Given the description of an element on the screen output the (x, y) to click on. 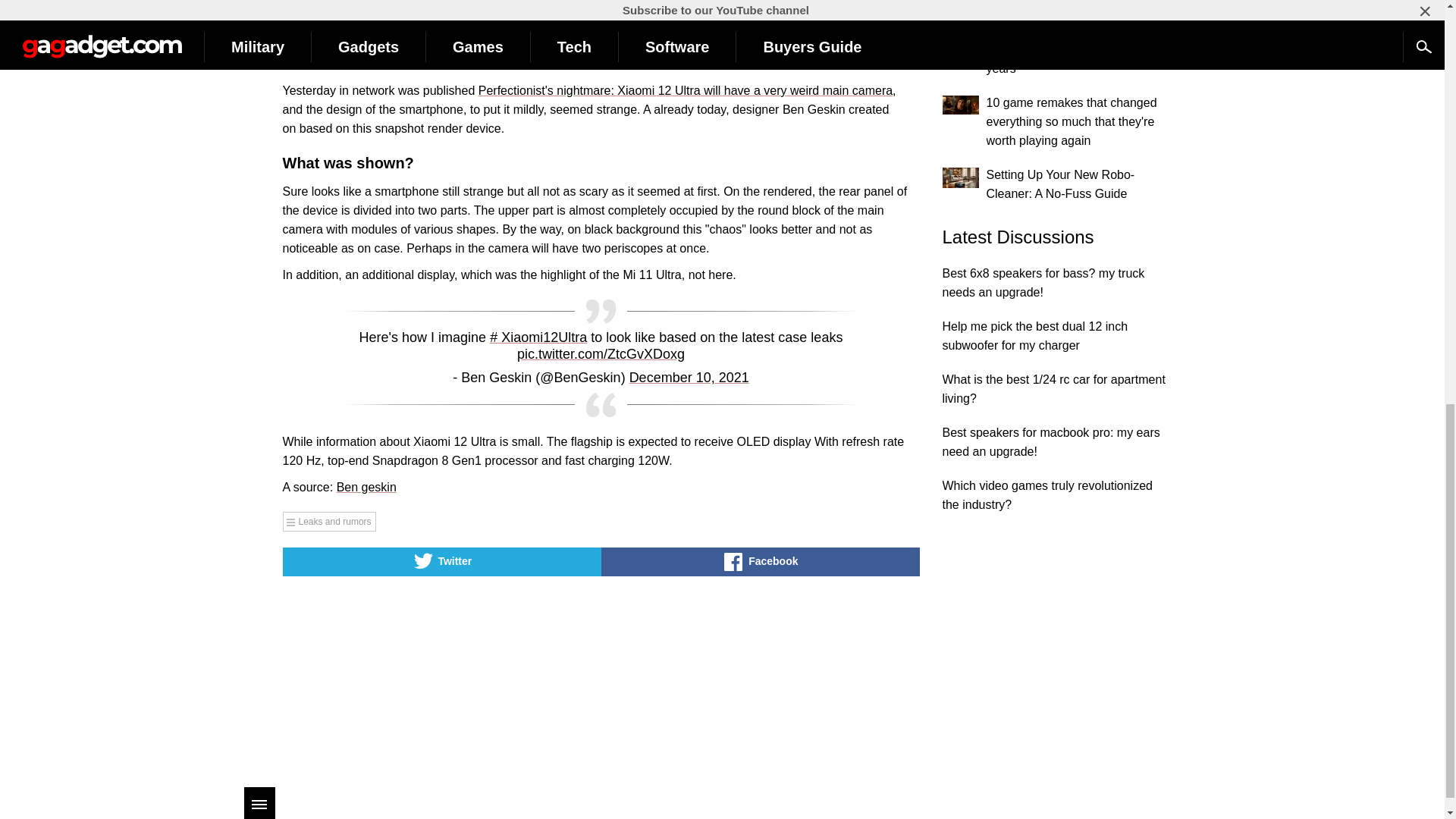
Setting Up Your New Robo-Cleaner: A No-Fuss Guide (960, 177)
